Given the description of an element on the screen output the (x, y) to click on. 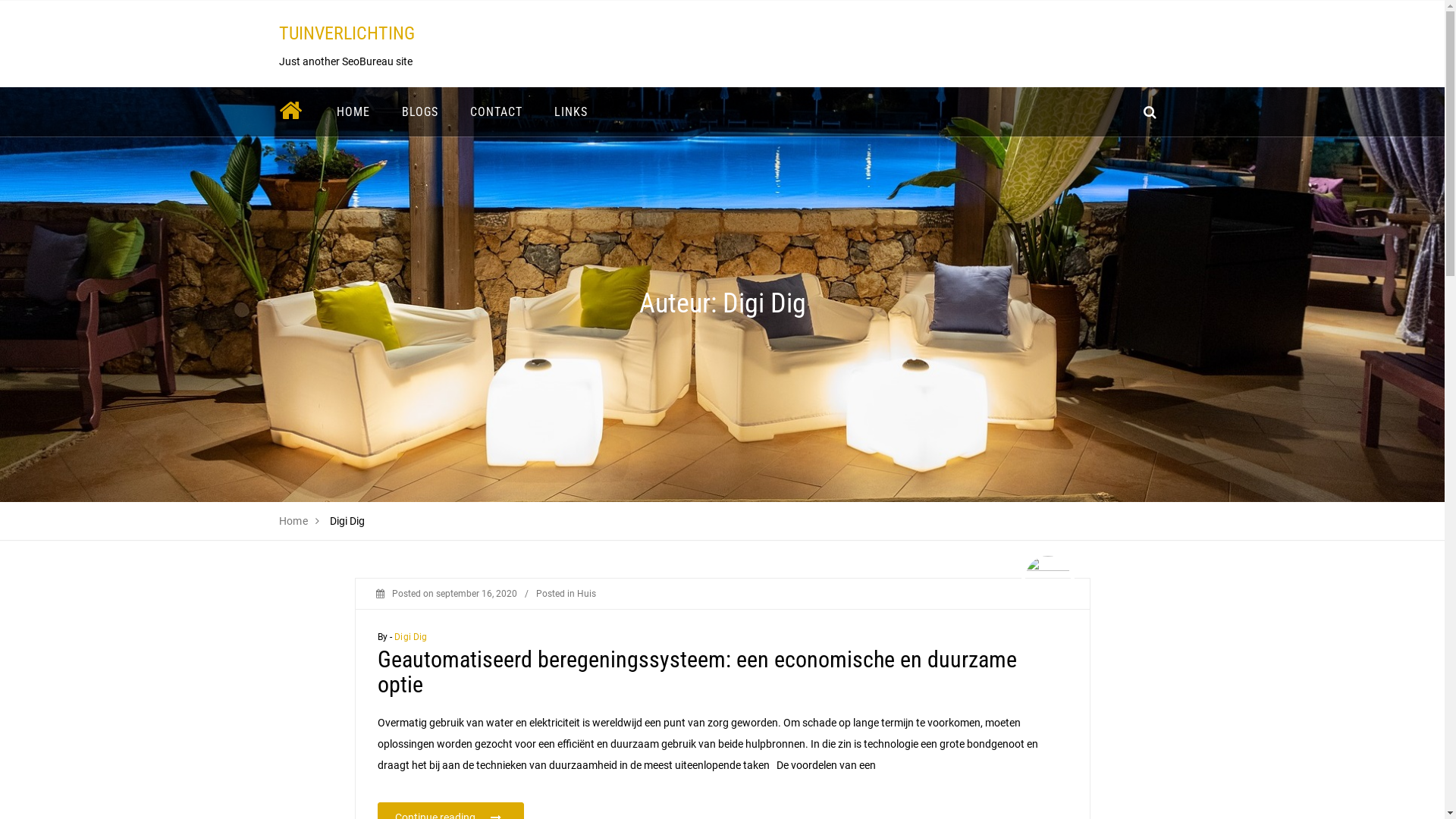
TUINVERLICHTING Element type: text (346, 32)
Huis Element type: text (585, 593)
BLOGS Element type: text (419, 111)
HOME Element type: text (352, 111)
Home Element type: text (293, 520)
Digi Dig Element type: text (410, 636)
september 16, 2020 Element type: text (475, 593)
LINKS Element type: text (570, 111)
search_icon Element type: hover (1148, 111)
CONTACT Element type: text (495, 111)
